Given the description of an element on the screen output the (x, y) to click on. 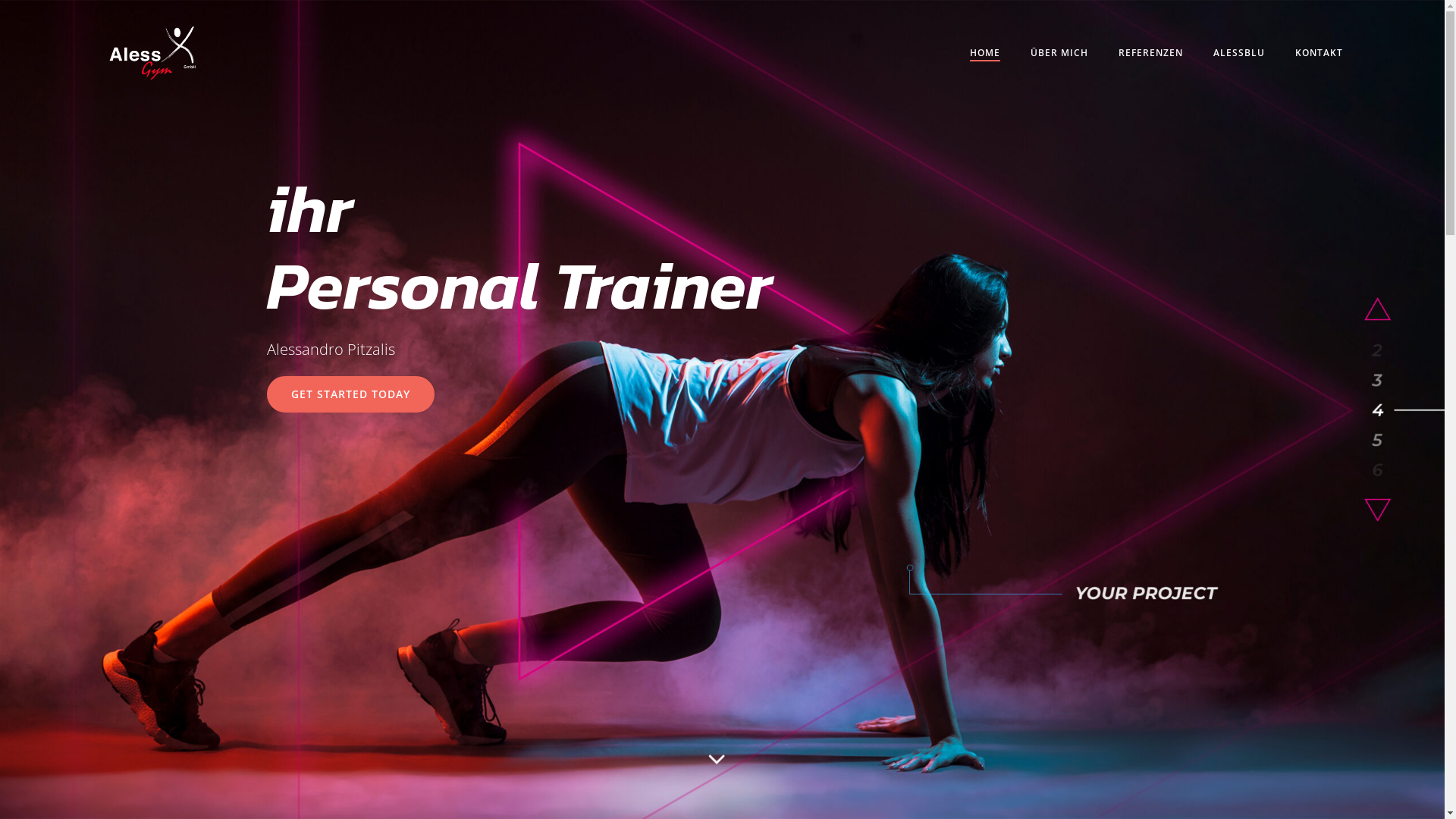
KONTAKT Element type: text (1319, 52)
HOME Element type: text (984, 52)
ALESSBLU Element type: text (1238, 52)
GET STARTED TODAY Element type: text (350, 394)
REFERENZEN Element type: text (1150, 52)
